Given the description of an element on the screen output the (x, y) to click on. 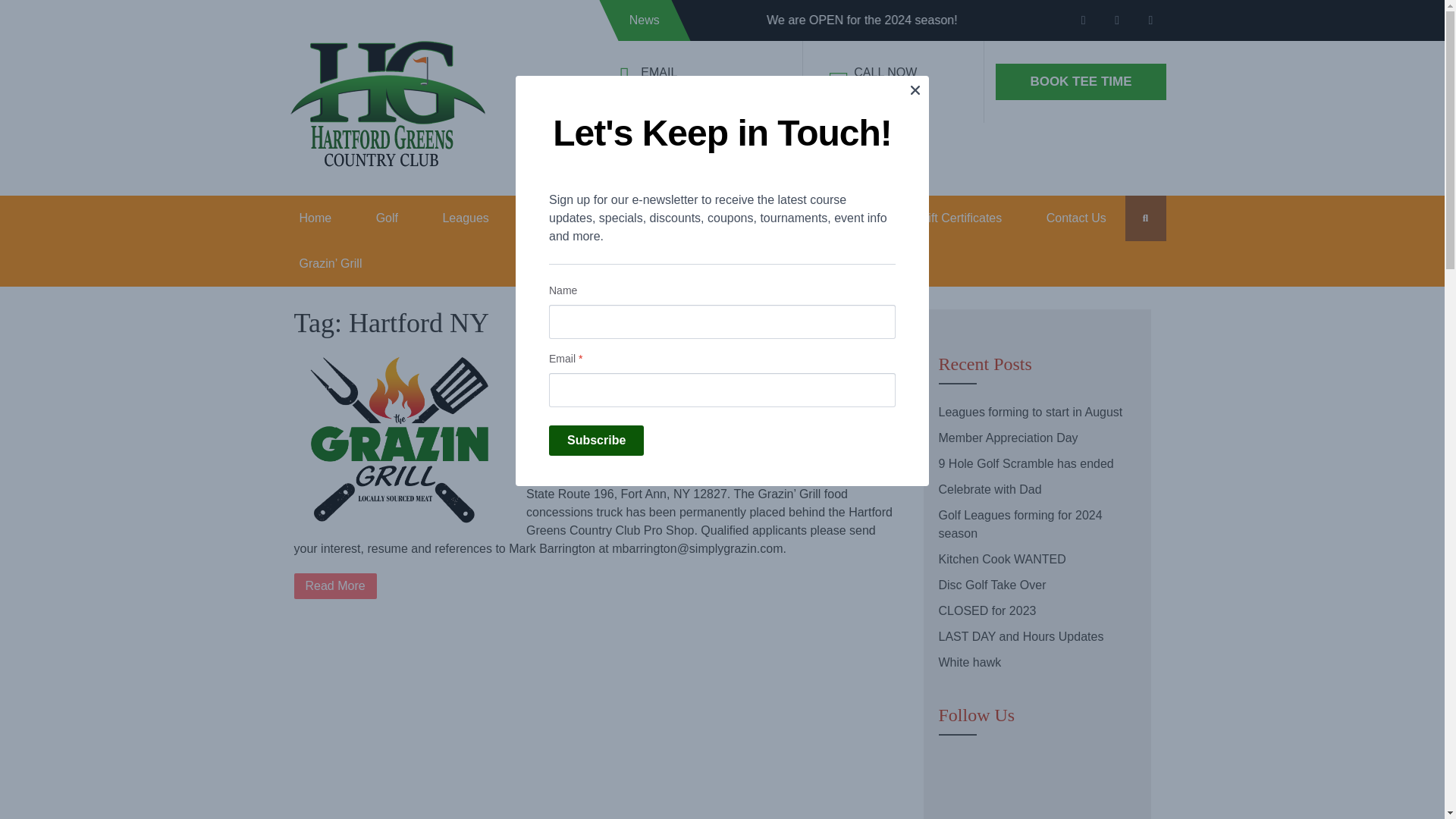
Golf (387, 217)
Contact Us (1076, 217)
Latest News (841, 217)
Events (745, 217)
Home (315, 217)
Gift Certificates (960, 217)
Memberships (646, 217)
Leagues (465, 217)
View all posts in News (692, 382)
518 632 9632 (890, 90)
BOOK TEE TIME (1080, 81)
Rates (548, 217)
